Given the description of an element on the screen output the (x, y) to click on. 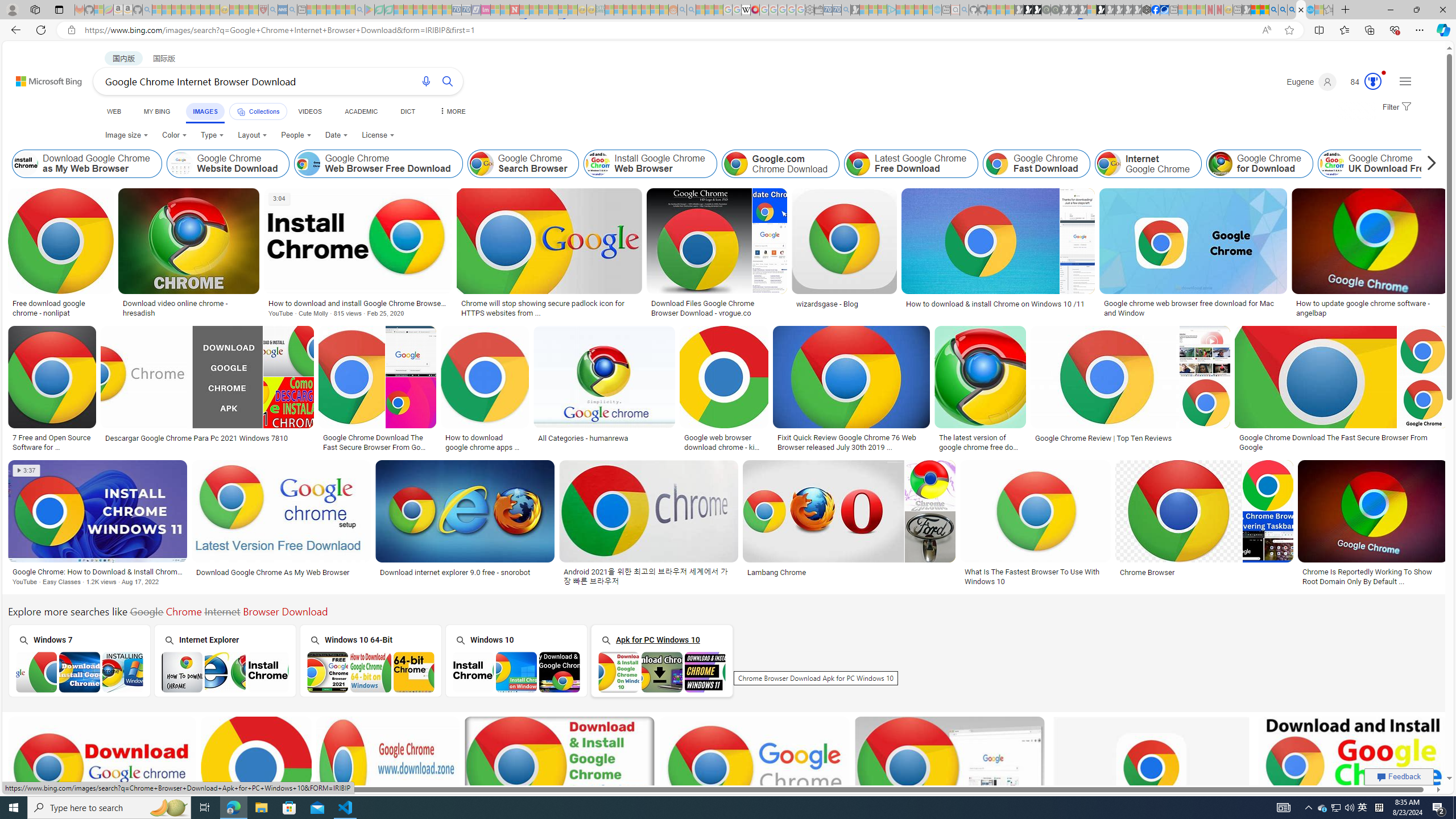
All Categories - humanrewaSave (605, 390)
All Categories - humanrewa (583, 437)
Google chrome web browser free download for Mac and Window (1192, 307)
Install Google Chrome Web Browser (597, 163)
Download Files Google Chrome Browser Download - vrogue.co (716, 307)
Class: b_pri_nav_svg (240, 112)
Google Chrome Web Browser Free Download (308, 163)
Google Chrome Web Browser Free Download (378, 163)
